Given the description of an element on the screen output the (x, y) to click on. 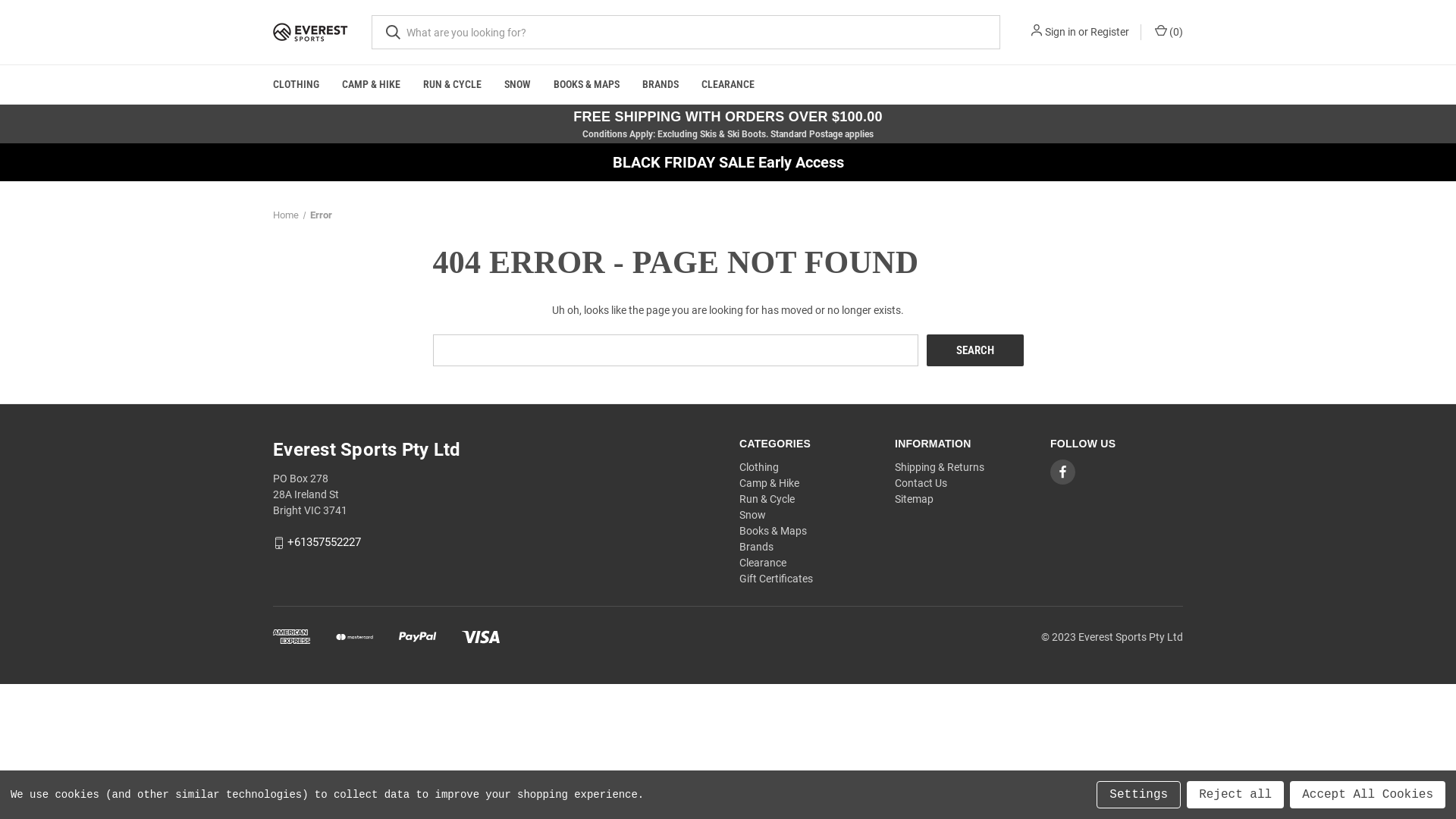
Settings Element type: text (1138, 794)
Accept All Cookies Element type: text (1367, 794)
BOOKS & MAPS Element type: text (586, 84)
BLACK FRIDAY SALE Early Access Element type: text (728, 162)
Gift Certificates Element type: text (775, 578)
(0) Element type: text (1167, 32)
Brands Element type: text (756, 546)
CAMP & HIKE Element type: text (370, 84)
Run & Cycle Element type: text (766, 498)
Clothing Element type: text (758, 467)
Snow Element type: text (752, 514)
CLOTHING Element type: text (295, 84)
Everest Sports Pty Ltd Element type: hover (310, 32)
Home Element type: text (285, 214)
RUN & CYCLE Element type: text (451, 84)
SNOW Element type: text (517, 84)
Search Element type: text (974, 349)
Sitemap Element type: text (913, 498)
Camp & Hike Element type: text (769, 482)
Shipping & Returns Element type: text (939, 467)
BRANDS Element type: text (660, 84)
CLEARANCE Element type: text (727, 84)
Error Element type: text (320, 214)
Contact Us Element type: text (920, 482)
Books & Maps Element type: text (772, 530)
Sign in Element type: text (1060, 32)
Clearance Element type: text (762, 562)
Reject all Element type: text (1234, 794)
Register Element type: text (1109, 32)
+61357552227 Element type: text (323, 542)
